Given the description of an element on the screen output the (x, y) to click on. 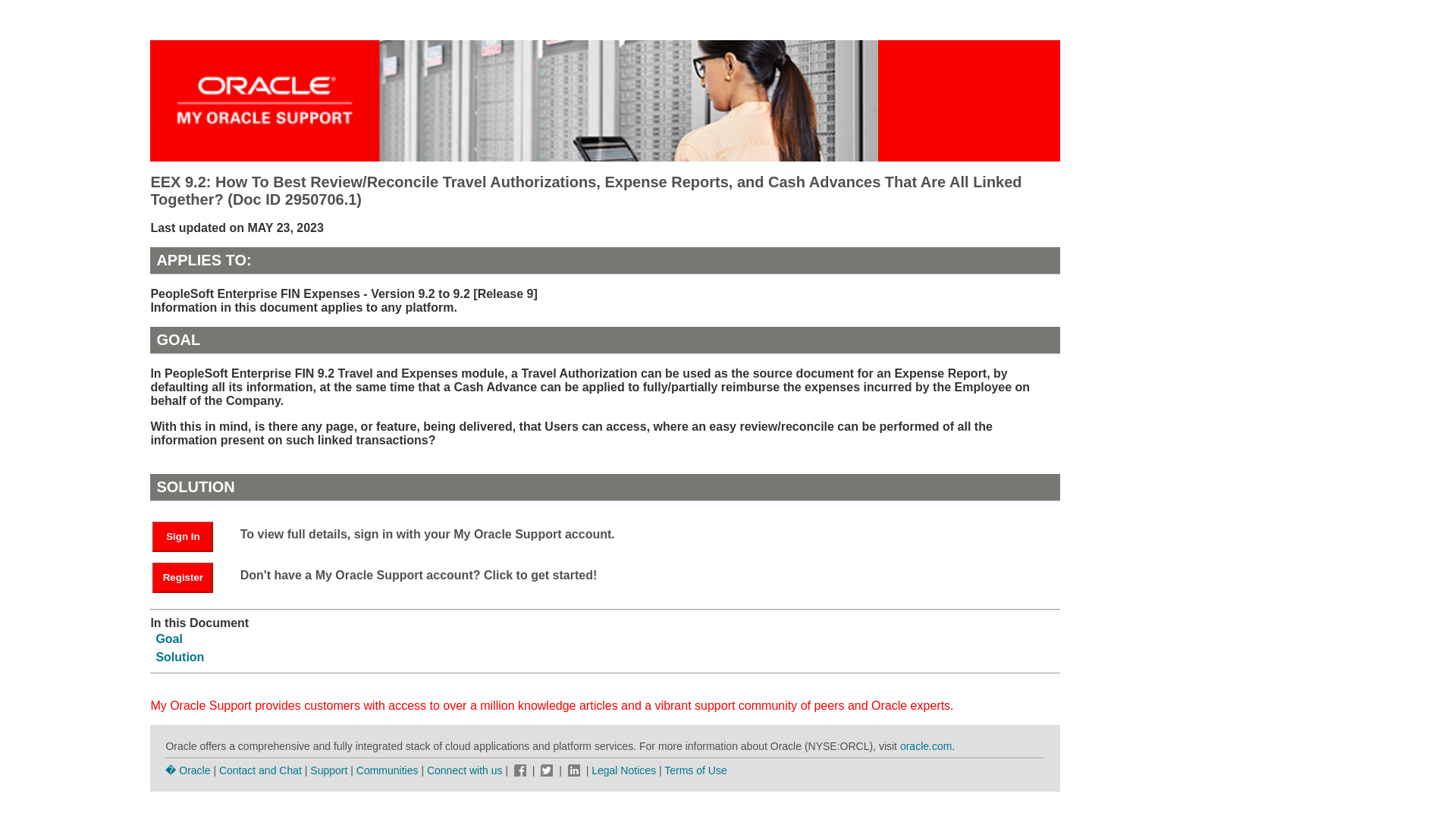
Goal (169, 638)
Register (190, 576)
Sign In (182, 536)
Register (182, 577)
Sign In (190, 535)
Terms of Use (694, 770)
oracle.com (925, 746)
Communities (387, 770)
Connect with us (465, 770)
Legal Notices (623, 770)
